Given the description of an element on the screen output the (x, y) to click on. 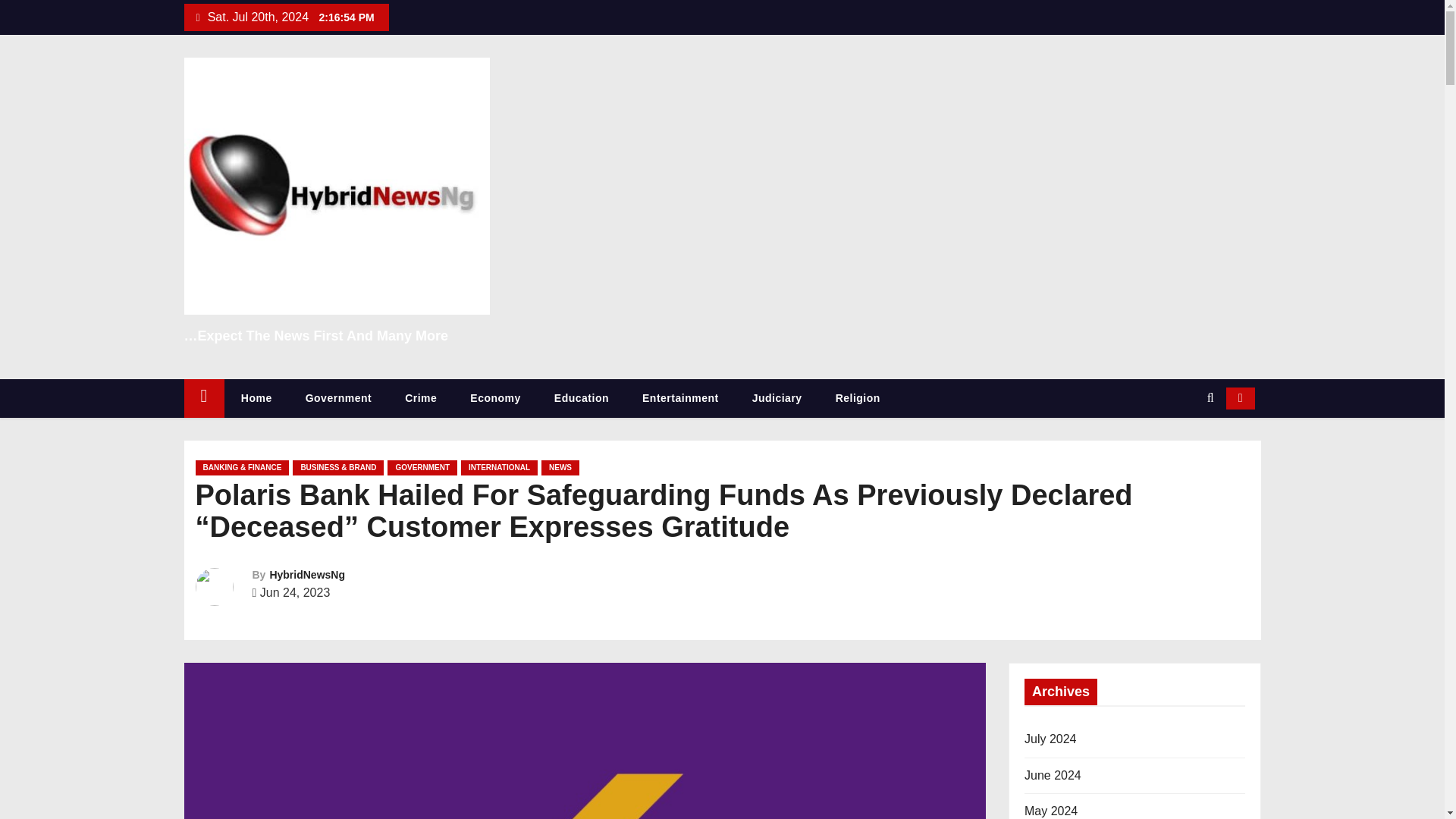
Economy (494, 398)
HybridNewsNg (307, 574)
Home (203, 398)
INTERNATIONAL (499, 467)
Religion (857, 398)
Entertainment (680, 398)
Entertainment (680, 398)
Judiciary (776, 398)
Home (256, 398)
Judiciary (776, 398)
Home (256, 398)
Education (581, 398)
NEWS (560, 467)
Crime (420, 398)
GOVERNMENT (422, 467)
